Given the description of an element on the screen output the (x, y) to click on. 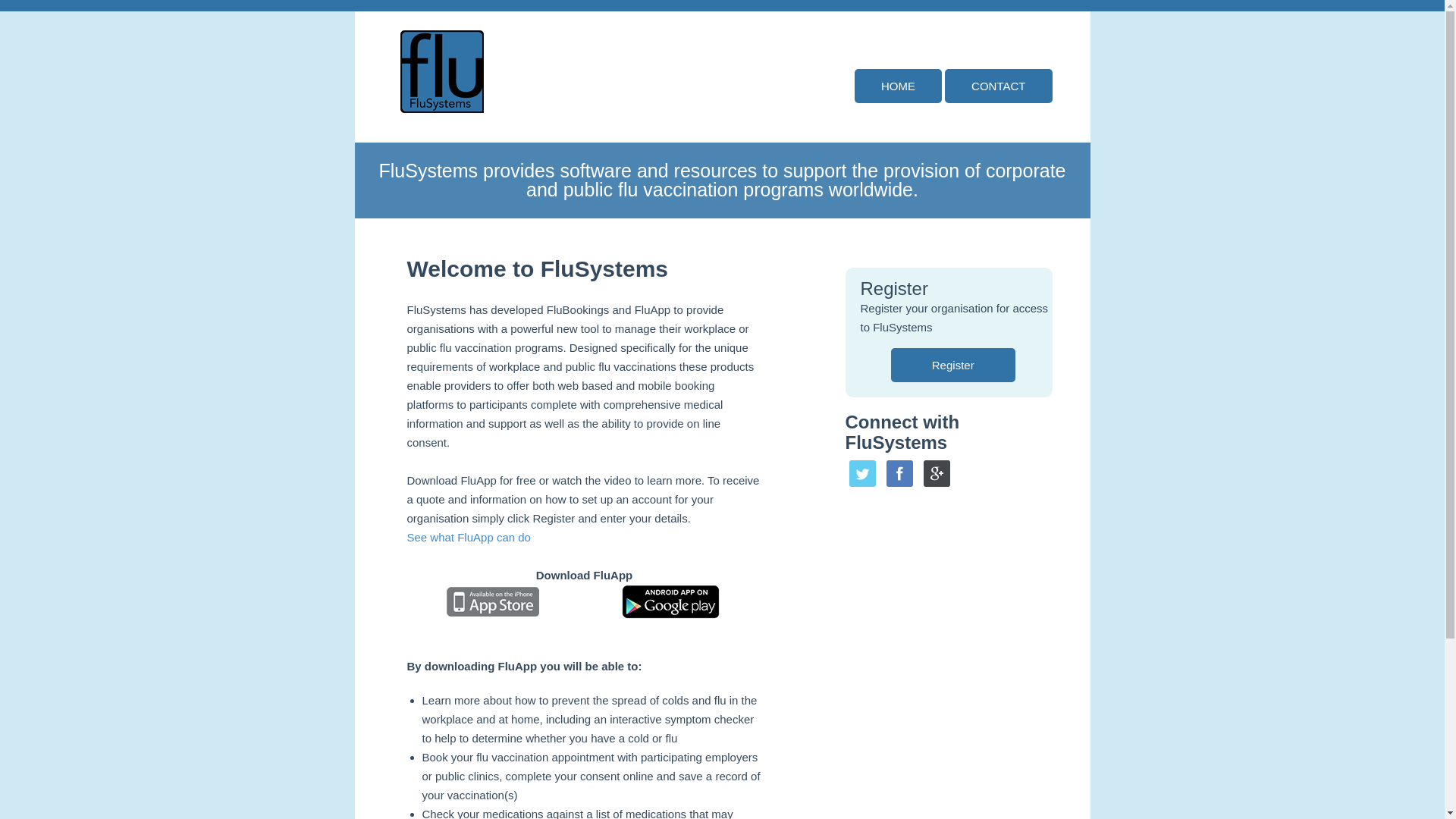
Register Element type: text (952, 364)
HOME Element type: text (897, 86)
See what FluApp can do Element type: text (468, 536)
CONTACT Element type: text (997, 86)
